Given the description of an element on the screen output the (x, y) to click on. 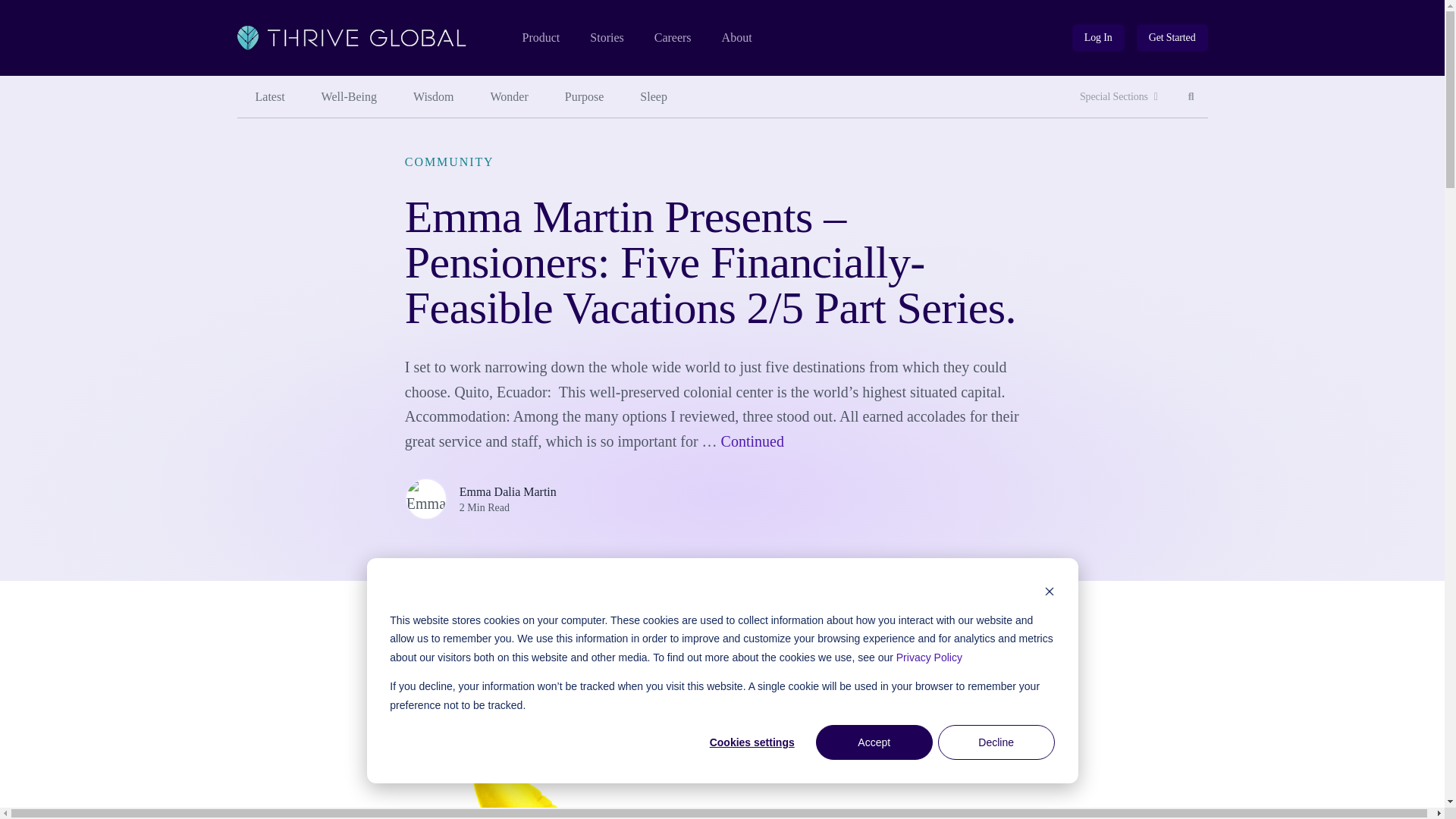
Careers (672, 37)
Product (540, 37)
Wonder (509, 96)
Sleep (653, 96)
Log In (1191, 97)
Get Started (1097, 37)
btn-info (1172, 37)
Special Sections (1097, 37)
Stories (1118, 97)
Well-Being (606, 37)
About (348, 96)
Purpose (737, 37)
btn-primary (585, 96)
Wisdom (1172, 37)
